Given the description of an element on the screen output the (x, y) to click on. 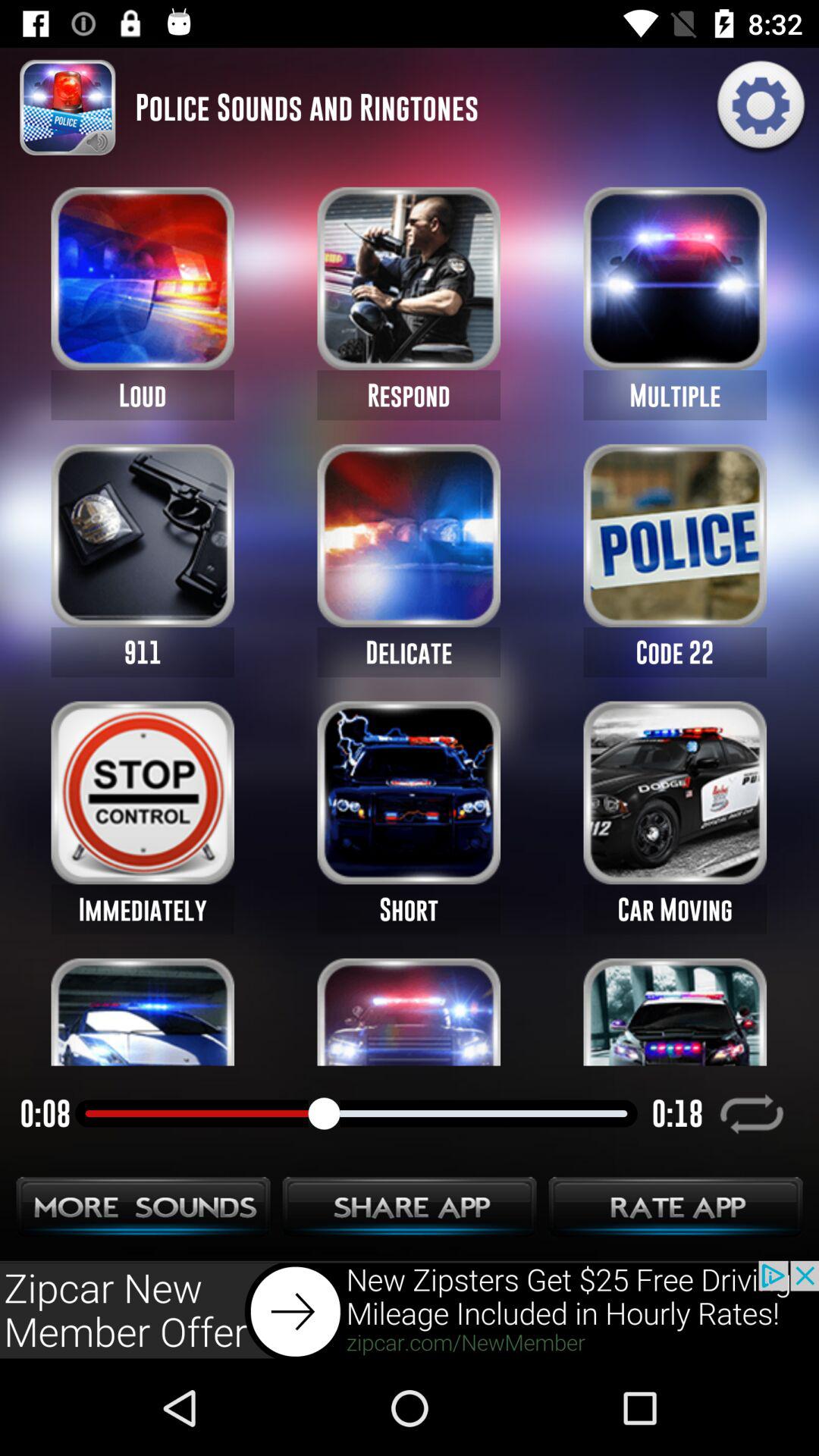
advertisement (409, 1310)
